Given the description of an element on the screen output the (x, y) to click on. 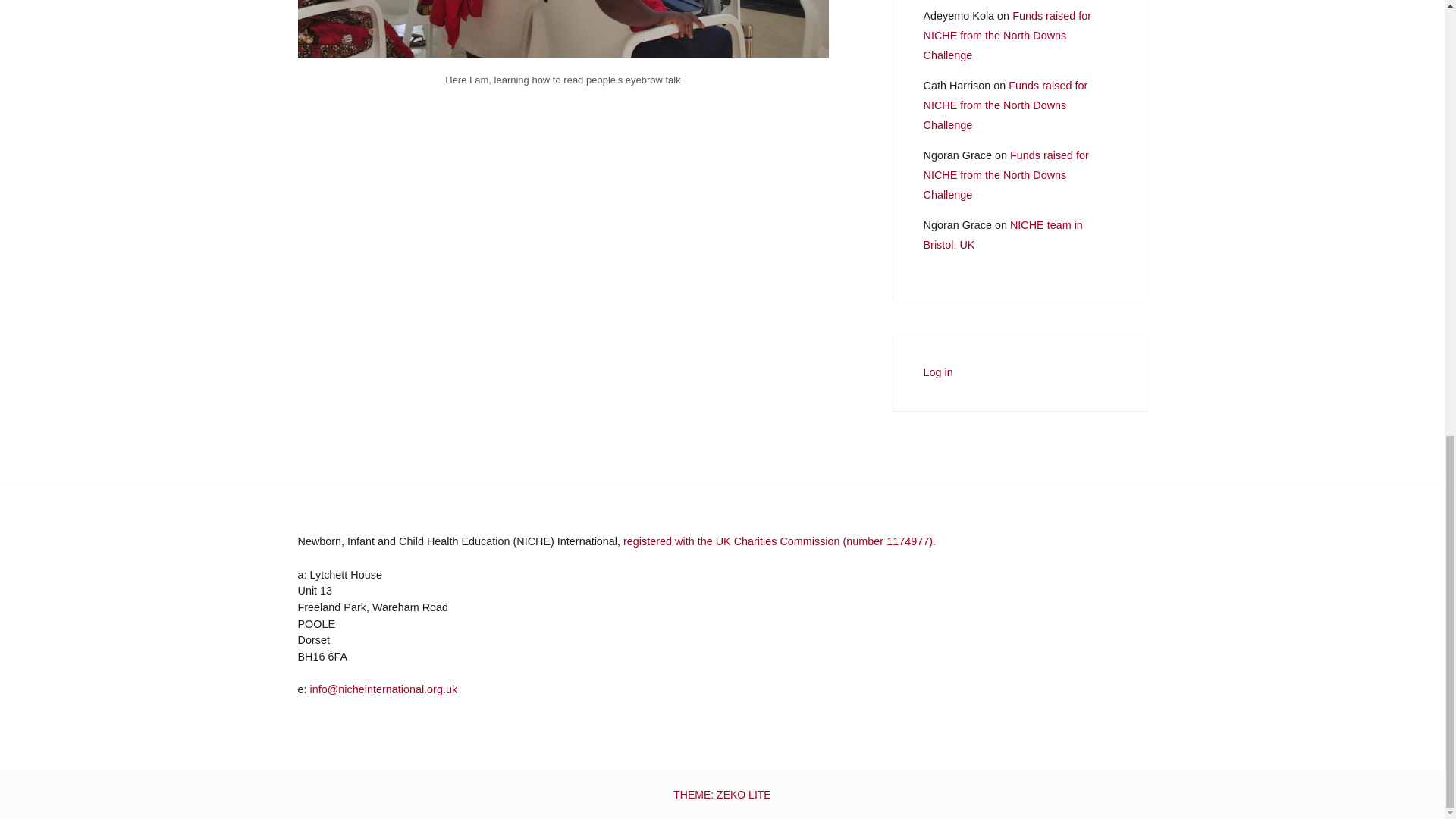
Funds raised for NICHE from the North Downs Challenge (1005, 105)
Log in (938, 373)
Funds raised for NICHE from the North Downs Challenge (1007, 36)
NICHE team in Bristol, UK (1003, 235)
THEME: ZEKO LITE (721, 795)
Funds raised for NICHE from the North Downs Challenge (1006, 175)
